Given the description of an element on the screen output the (x, y) to click on. 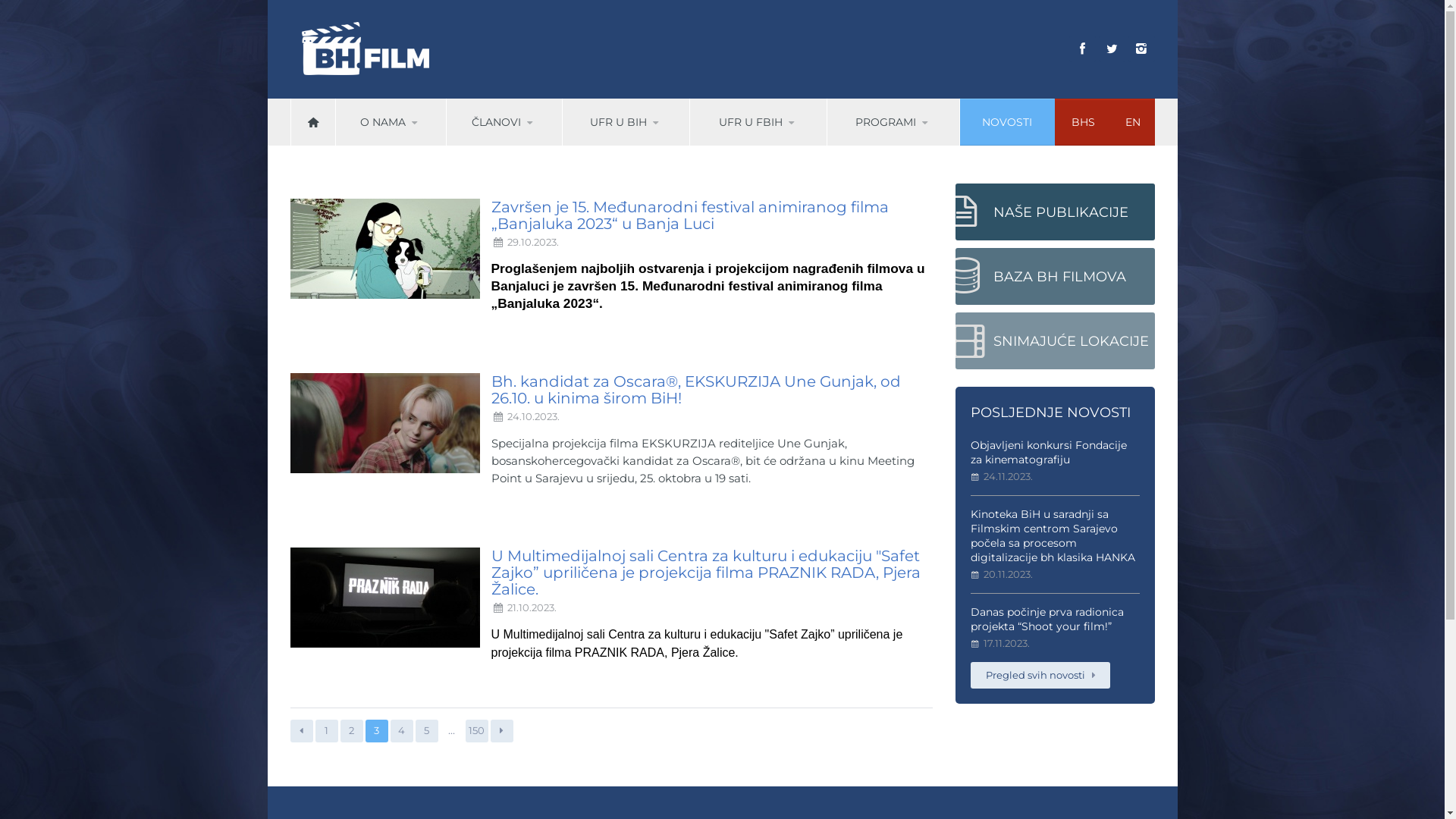
150 Element type: text (476, 730)
3 Element type: text (376, 730)
5 Element type: text (426, 730)
... Element type: text (450, 730)
Objavljeni konkursi Fondacije za kinematografiju Element type: text (1048, 452)
4 Element type: text (400, 730)
2 Element type: text (350, 730)
Pregled svih novosti Element type: text (1040, 675)
BHS Element type: text (1082, 122)
BAZA BH FILMOVA Element type: text (1054, 275)
1 Element type: text (326, 730)
NOVOSTI Element type: text (1007, 121)
EN Element type: text (1132, 122)
